Given the description of an element on the screen output the (x, y) to click on. 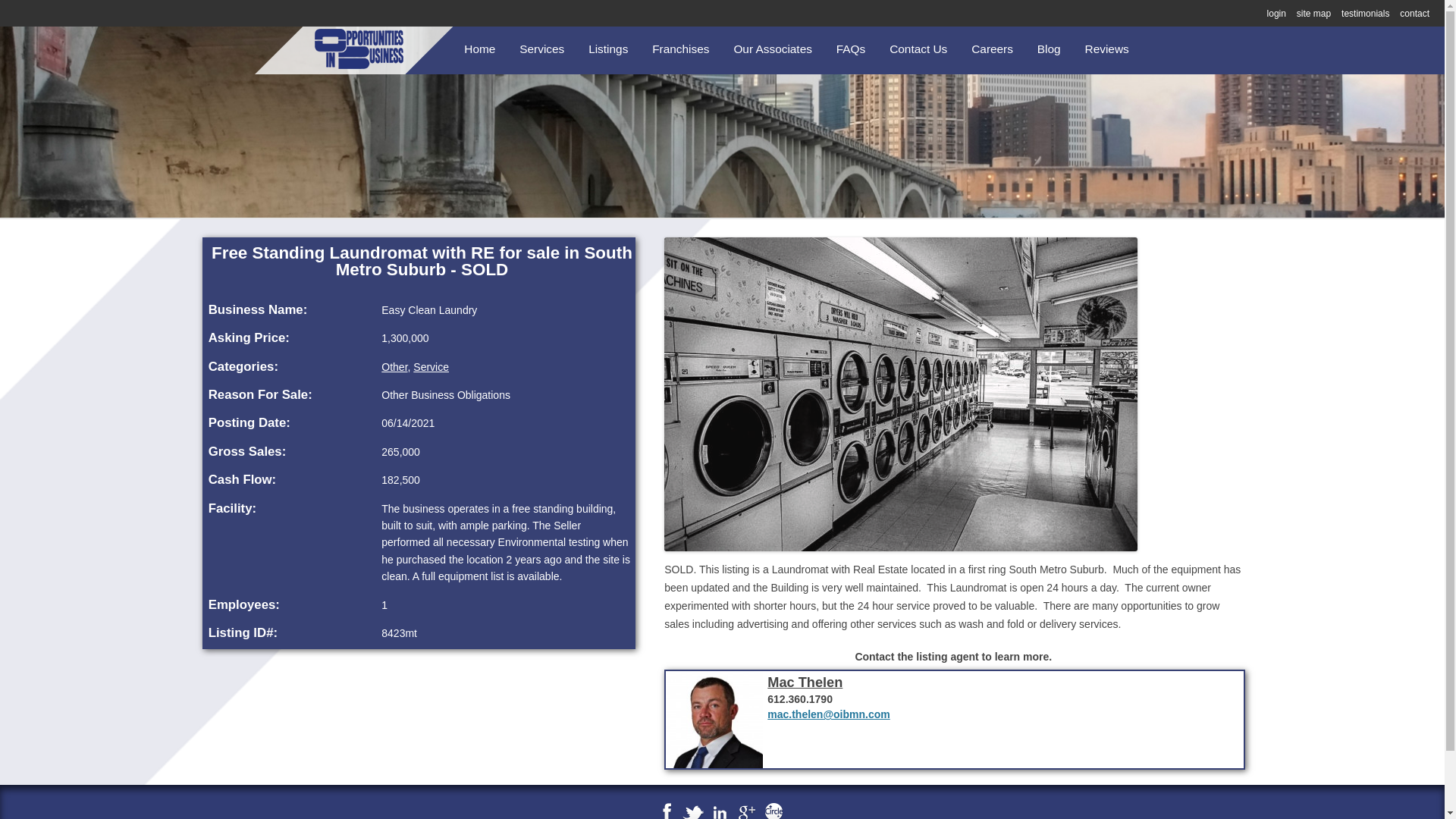
testimonials (1364, 13)
All Listings (663, 82)
Author Bio for Mac Thelen (805, 682)
Buy a Business (595, 82)
Services (541, 49)
contact (1414, 13)
Our Associates (772, 49)
Franchises (680, 49)
Reviews (1106, 49)
site map (1313, 13)
Other (394, 367)
Contact Us (918, 49)
Careers (992, 49)
Service (430, 367)
